Given the description of an element on the screen output the (x, y) to click on. 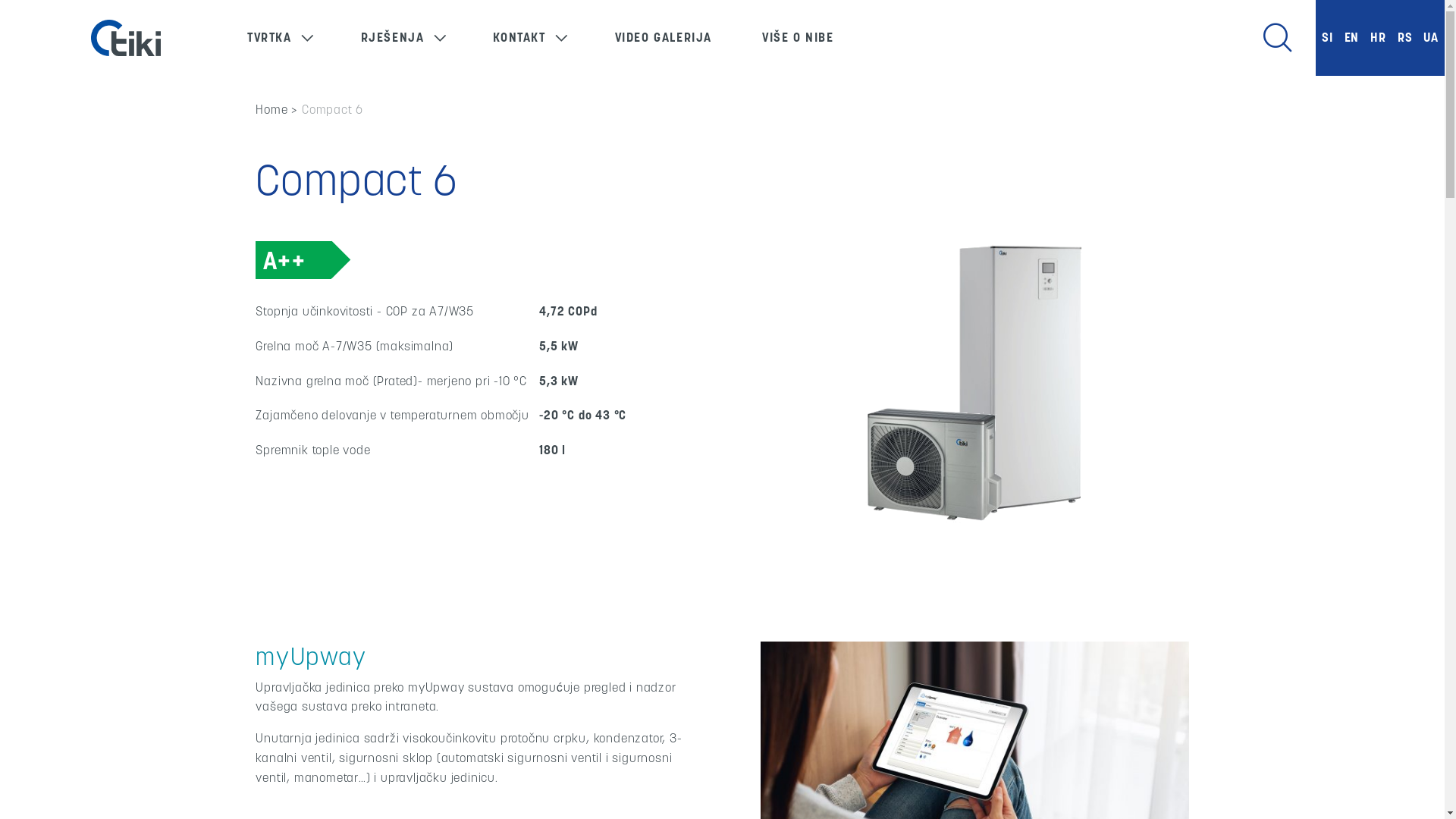
RS Element type: text (1404, 37)
Home Element type: text (271, 109)
KONTAKT Element type: text (518, 37)
SI Element type: text (1327, 37)
TVRTKA Element type: text (269, 37)
UA Element type: text (1430, 37)
HR Element type: text (1378, 37)
VIDEO GALERIJA Element type: text (663, 37)
EN Element type: text (1351, 37)
